Given the description of an element on the screen output the (x, y) to click on. 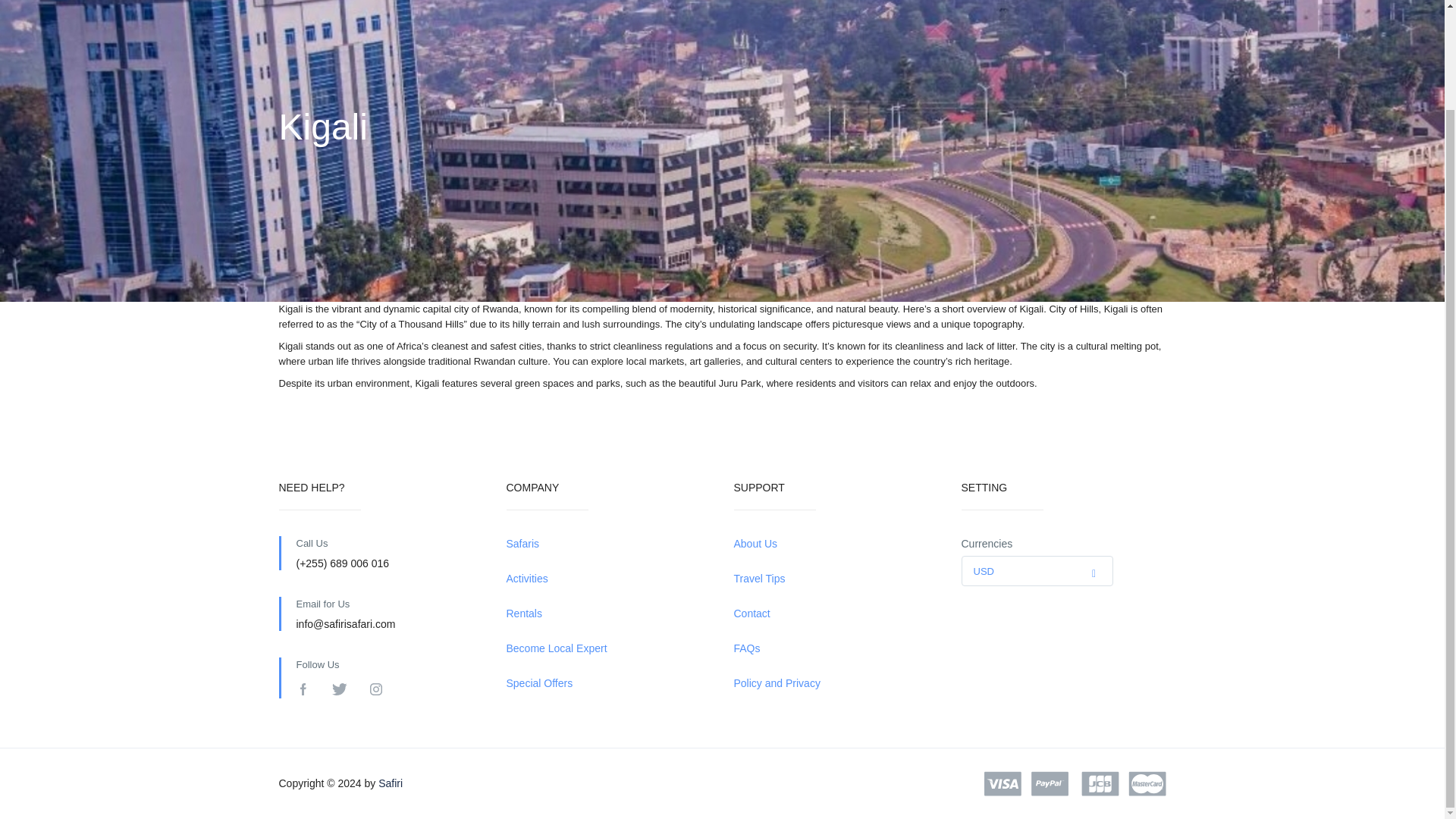
Contact (836, 613)
Activities (608, 578)
Become Local Expert (608, 648)
FAQs (836, 648)
Special Offers (608, 683)
Safiri (390, 783)
USD (1036, 571)
Policy and Privacy (836, 683)
About Us (836, 544)
Travel Tips (836, 578)
Safaris (608, 544)
Rentals (608, 613)
